Given the description of an element on the screen output the (x, y) to click on. 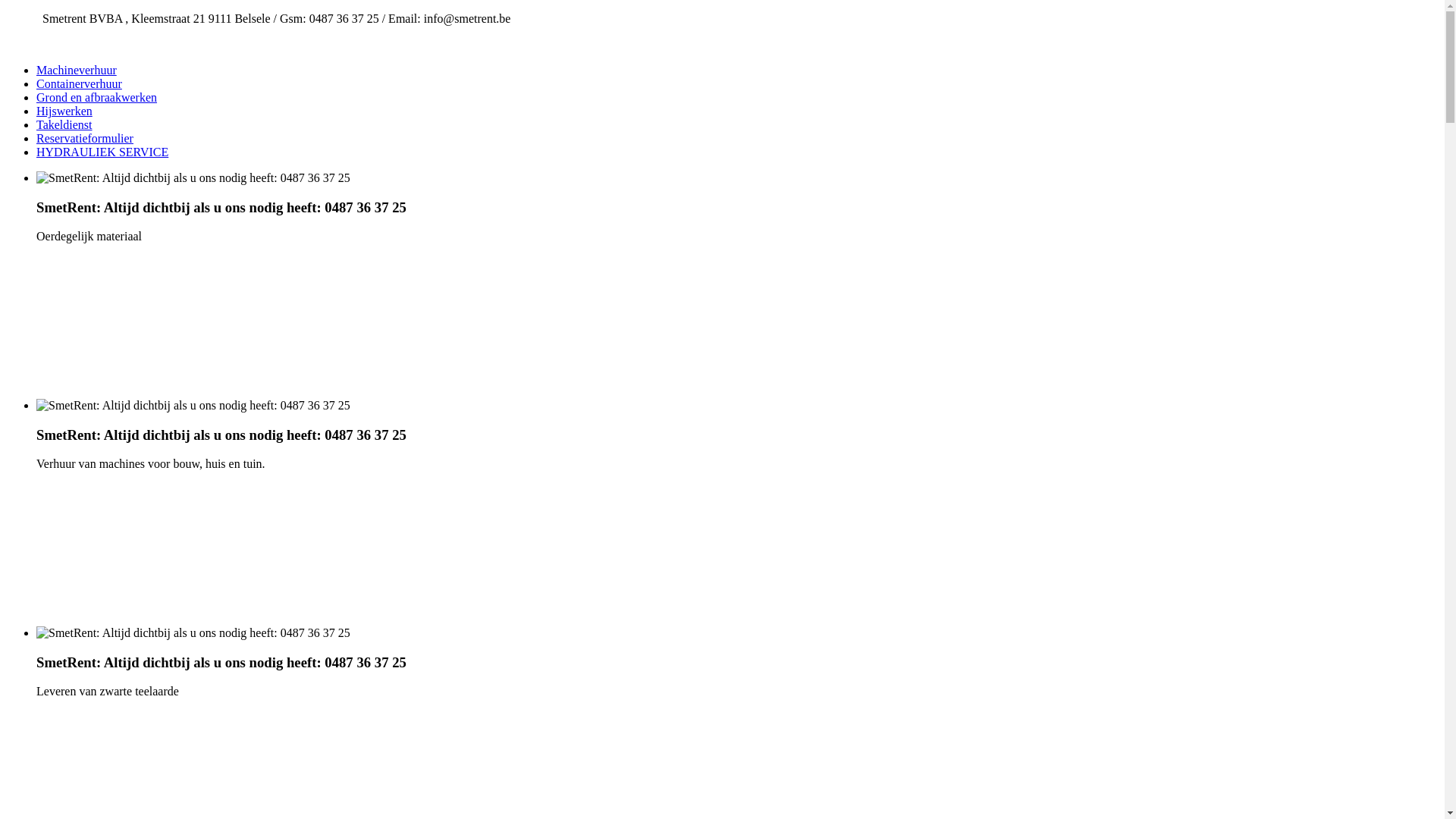
Containerverhuur Element type: text (79, 83)
Takeldienst Element type: text (64, 124)
Machineverhuur Element type: text (76, 69)
HYDRAULIEK SERVICE Element type: text (102, 151)
Reservatieformulier Element type: text (84, 137)
Grond en afbraakwerken Element type: text (96, 97)
Hijswerken Element type: text (64, 110)
